Given the description of an element on the screen output the (x, y) to click on. 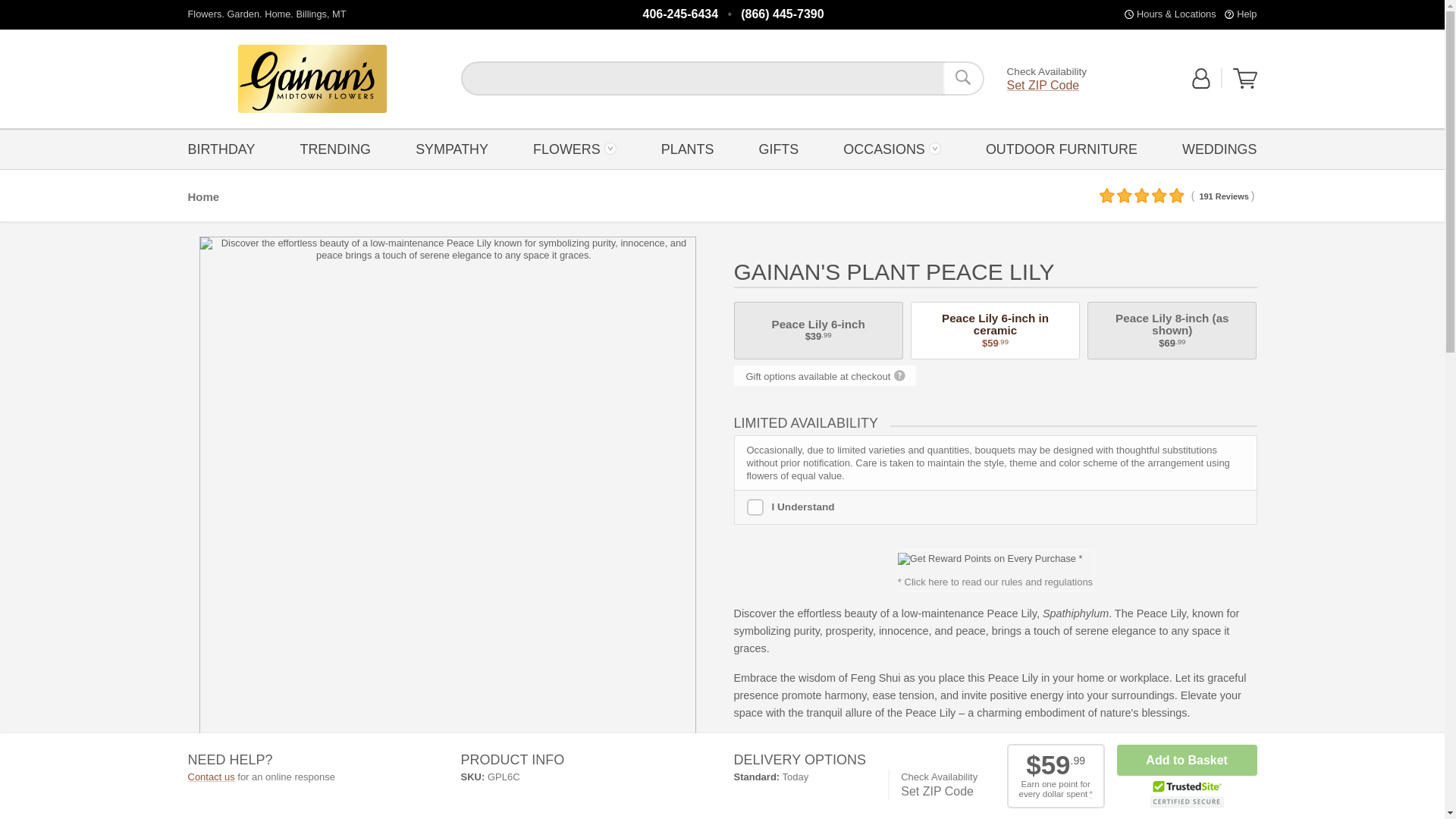
SYMPATHY (451, 147)
Help (1246, 13)
View Your Shopping Cart (1245, 78)
Gainan's Midtown Flowers Logo (312, 79)
FLOWERS (574, 147)
Back to the Home Page (312, 79)
TRENDING (334, 147)
BIRTHDAY (225, 147)
Search (963, 78)
Set ZIP Code (1043, 85)
